Given the description of an element on the screen output the (x, y) to click on. 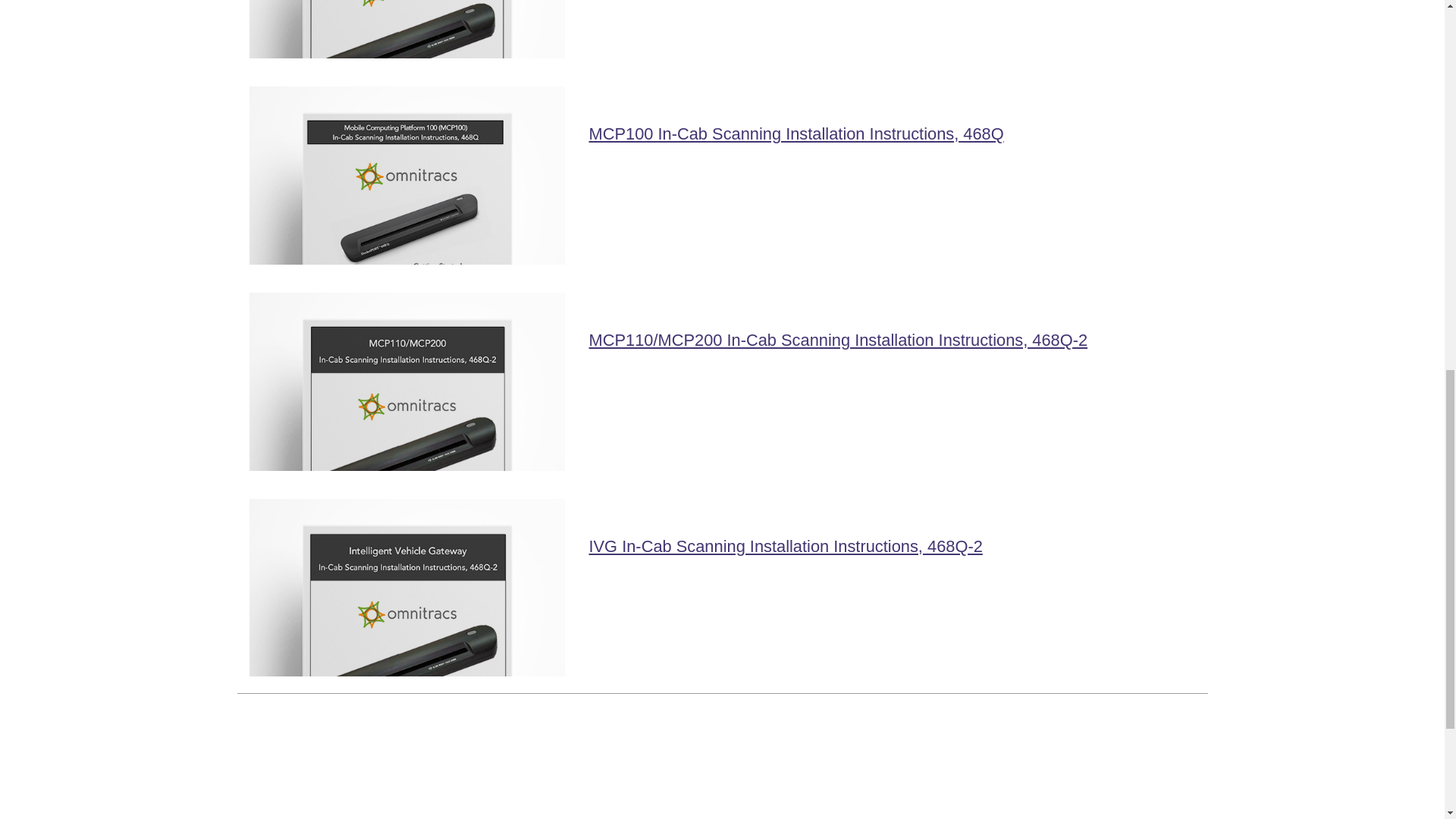
MCP100 In-Cab Scanning Installation Instructions, 468Q (795, 133)
